Given the description of an element on the screen output the (x, y) to click on. 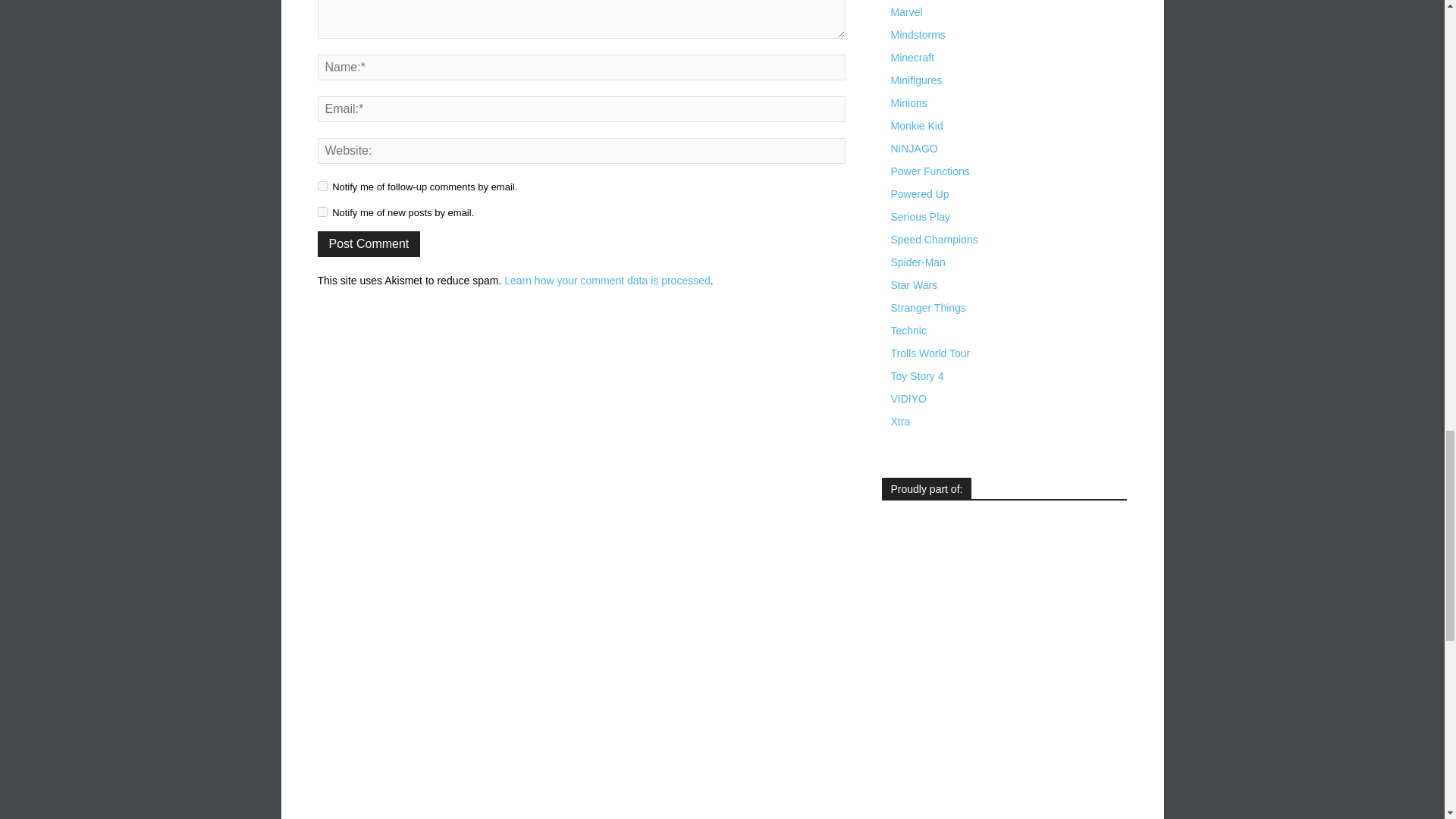
Post Comment (368, 243)
subscribe (321, 185)
subscribe (321, 212)
